Given the description of an element on the screen output the (x, y) to click on. 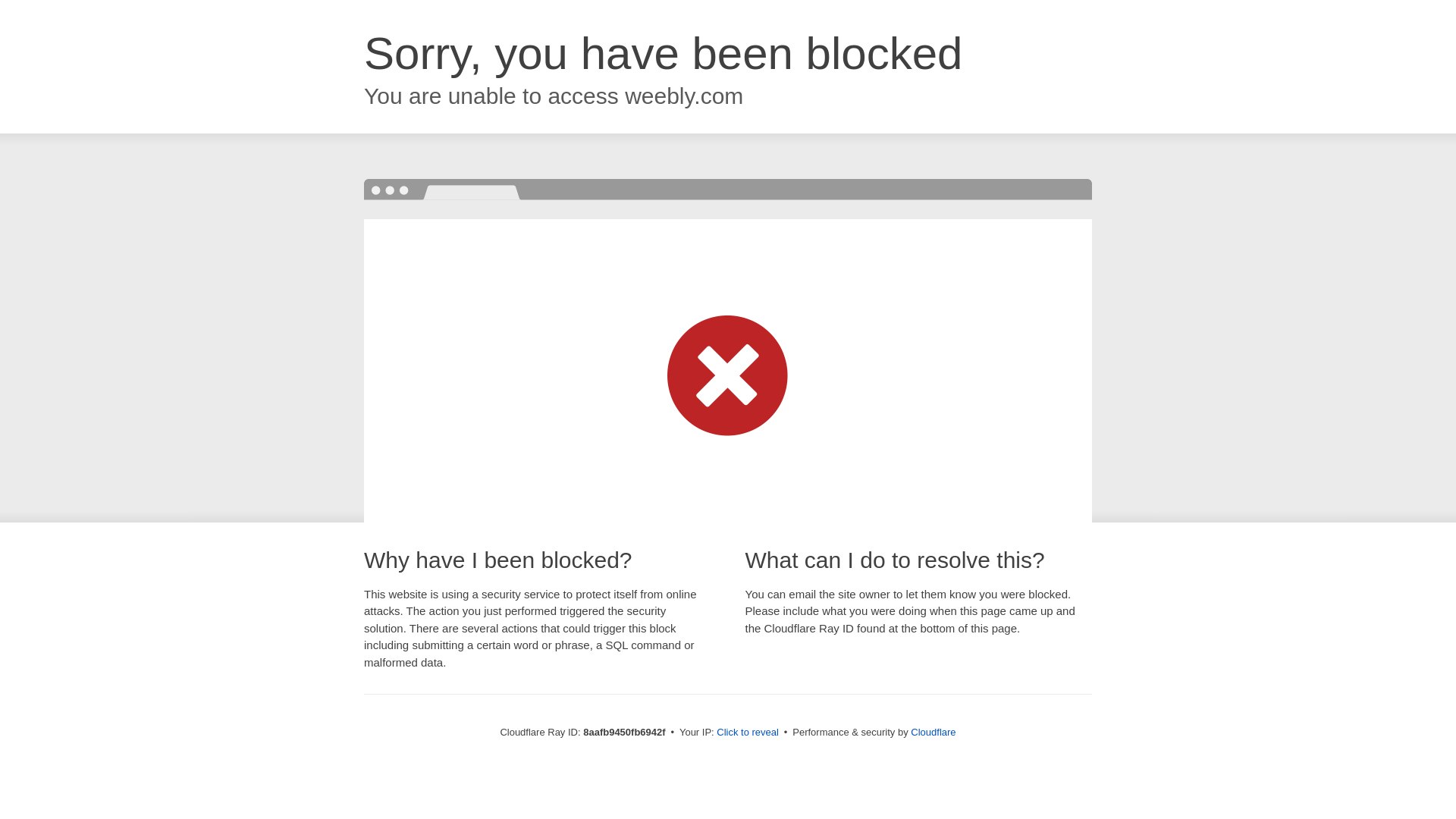
Click to reveal (747, 732)
Cloudflare (933, 731)
